Given the description of an element on the screen output the (x, y) to click on. 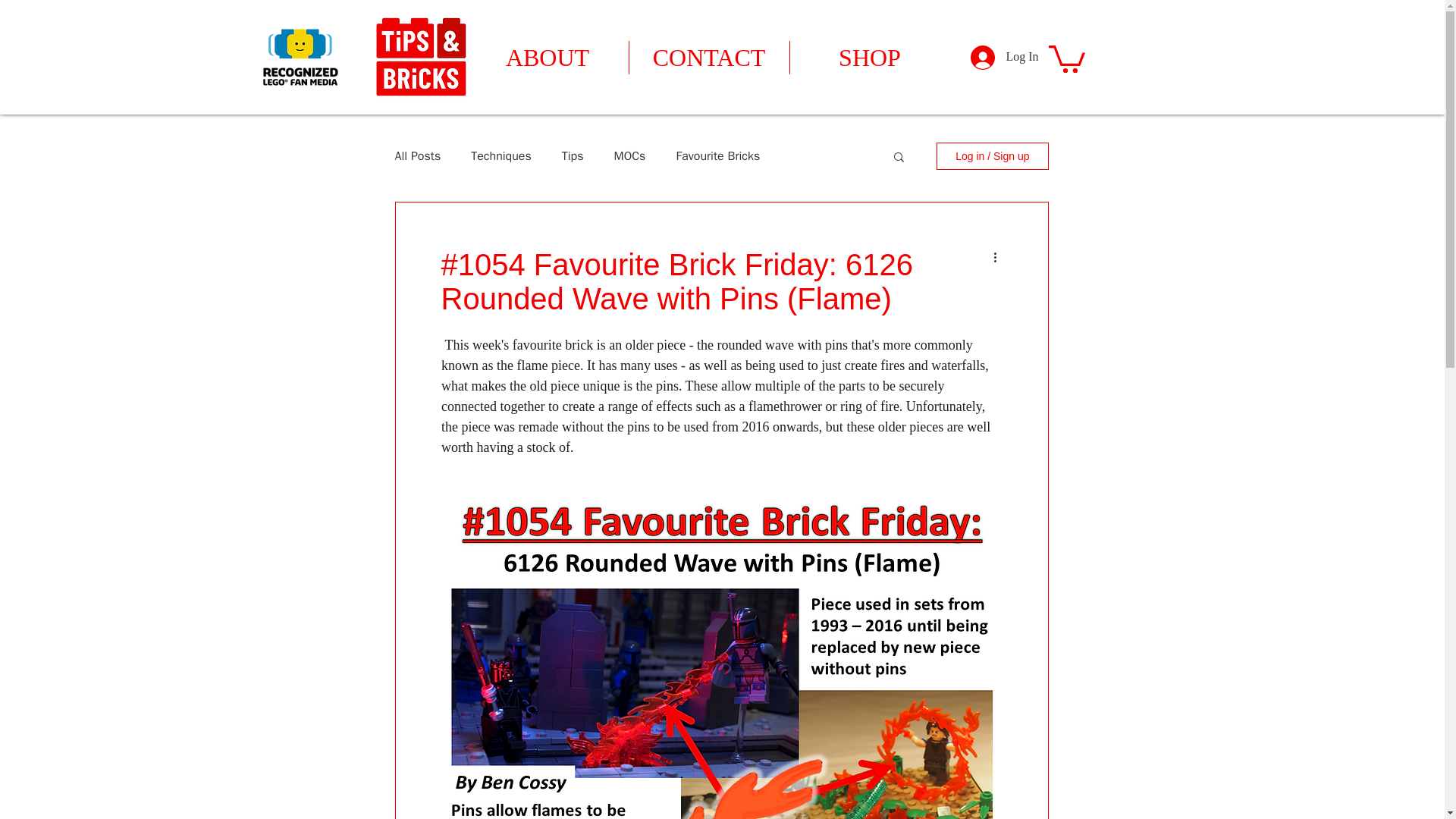
Tips (572, 156)
ABOUT (547, 57)
CONTACT (708, 57)
Favourite Bricks (717, 156)
SHOP (870, 57)
All Posts (417, 156)
MOCs (630, 156)
Techniques (500, 156)
Log In (1003, 57)
